Given the description of an element on the screen output the (x, y) to click on. 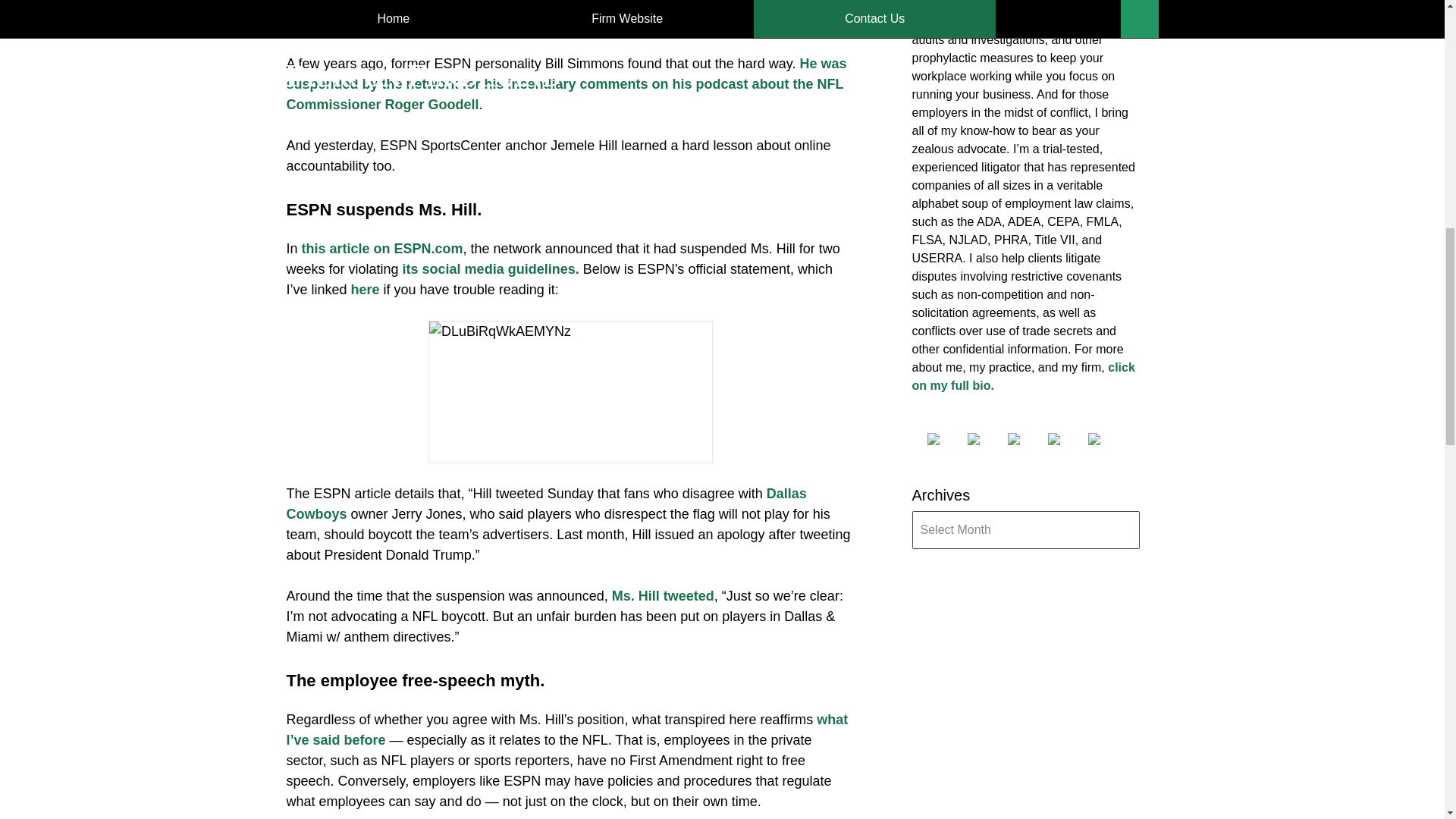
this article on ESPN.com (382, 248)
Facebook (944, 439)
Ms. Hill tweeted (662, 595)
Feed (1105, 439)
Justia (1066, 439)
Twitter (986, 439)
LinkedIn (1025, 439)
Dallas Cowboys (546, 503)
click on my full bio. (1022, 376)
